Given the description of an element on the screen output the (x, y) to click on. 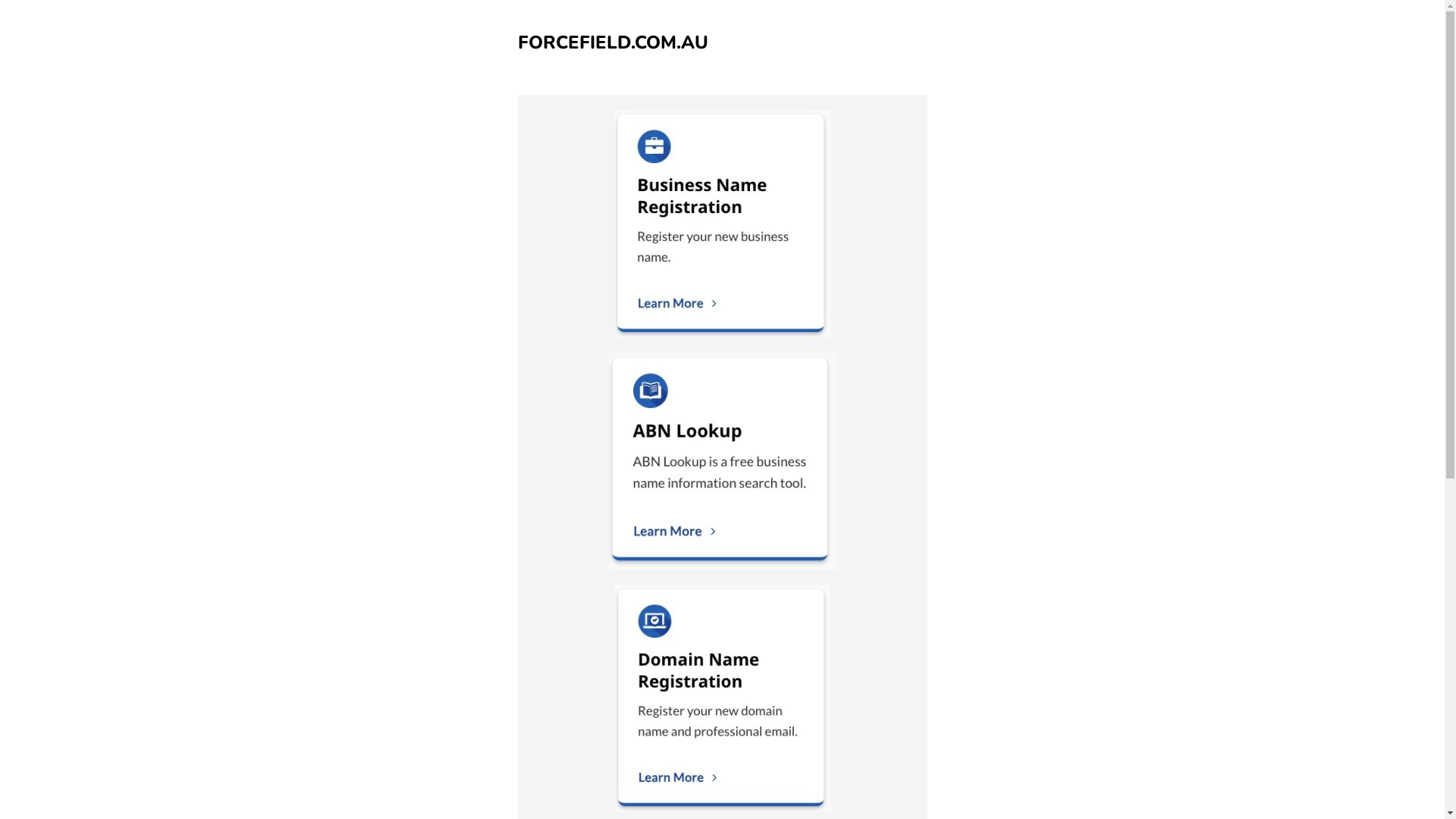
FORCEFIELD.COM.AU Element type: text (612, 42)
